Given the description of an element on the screen output the (x, y) to click on. 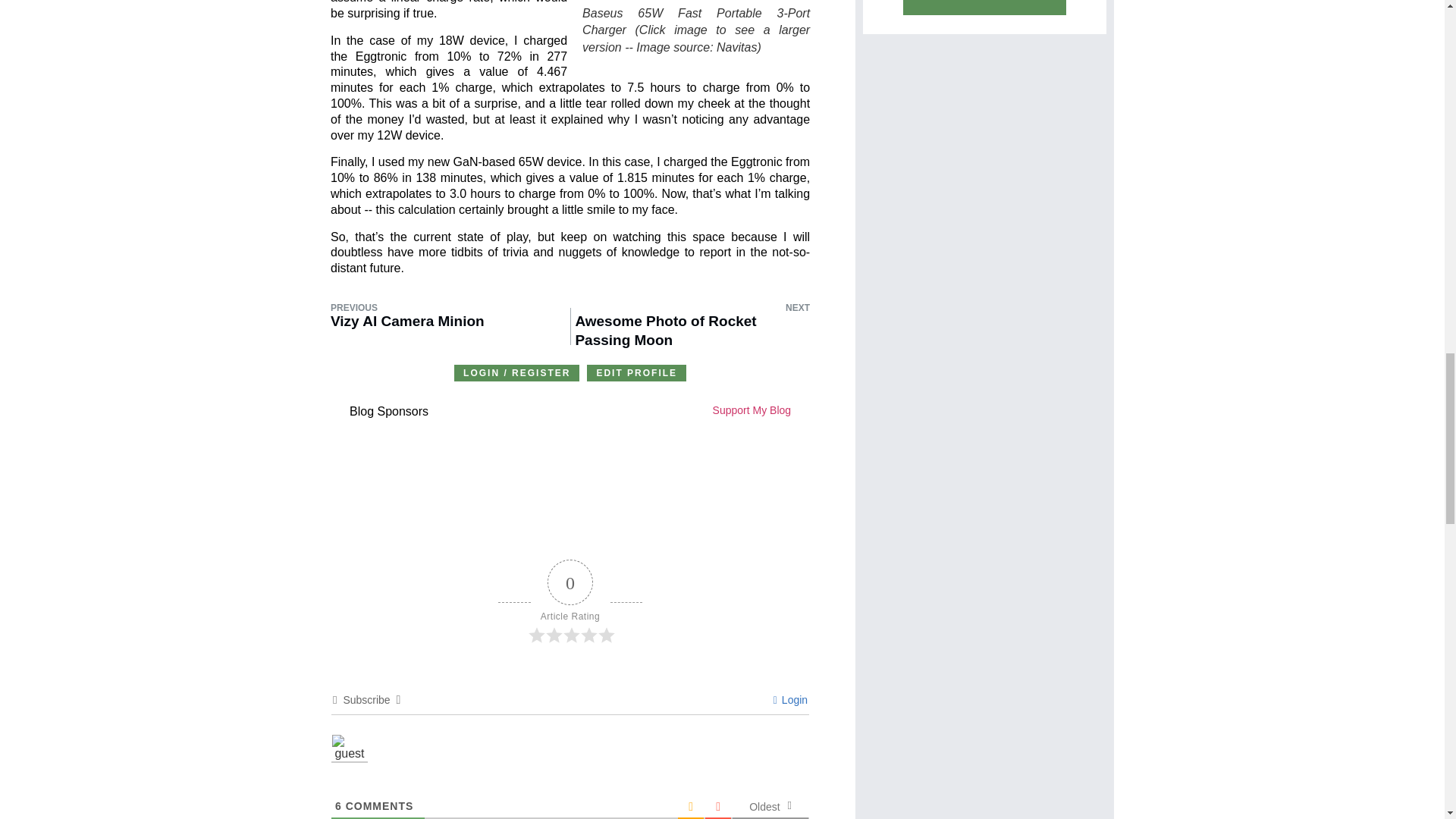
Login (790, 699)
Vizy AI Camera Minion (407, 330)
Awesome Photo of Rocket Passing Moon (692, 330)
Support My Blog (680, 410)
EDIT PROFILE (635, 372)
